Given the description of an element on the screen output the (x, y) to click on. 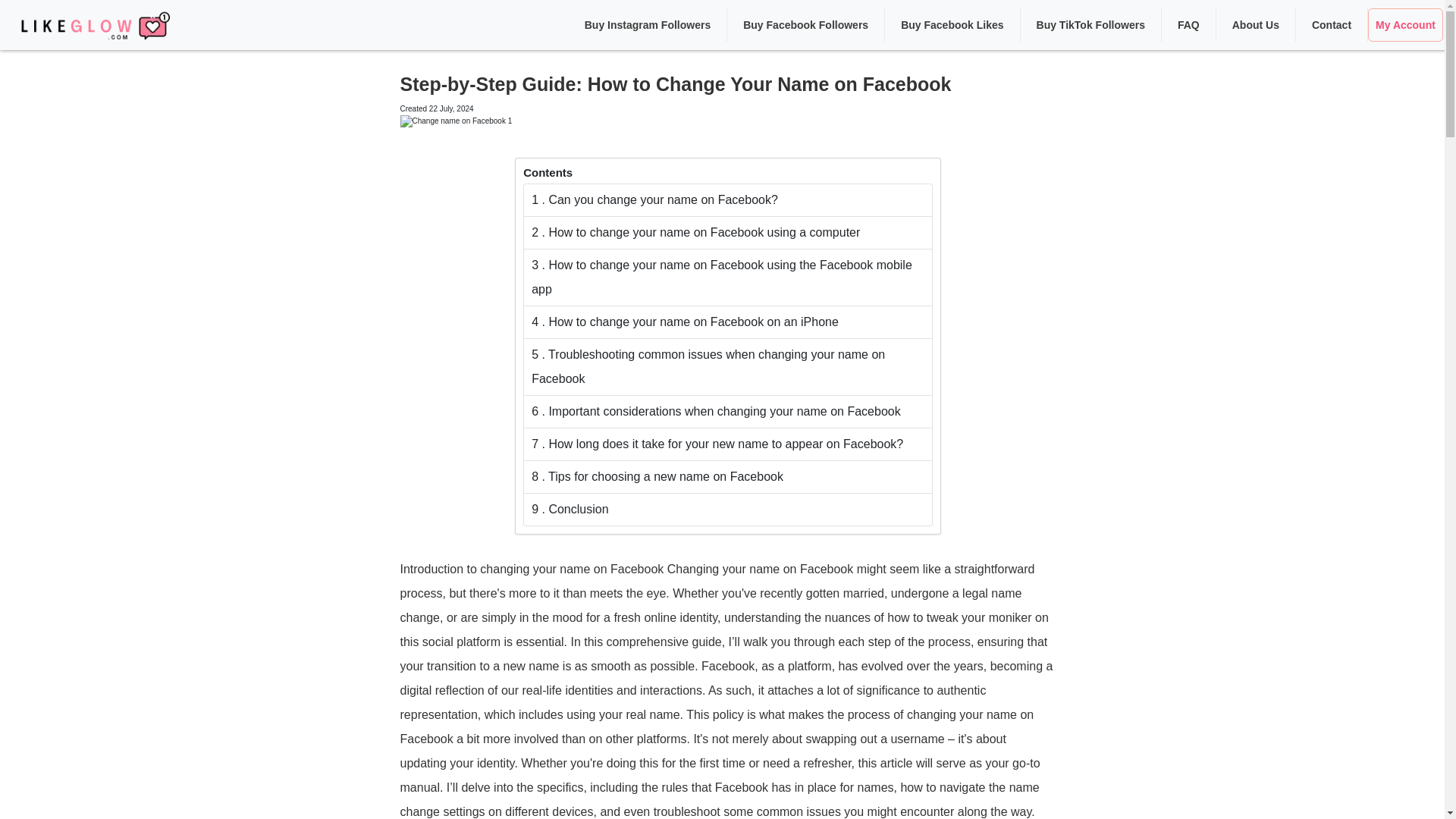
9 . Conclusion (727, 509)
Buy TikTok Followers (1090, 24)
Buy Instagram Followers (647, 24)
FAQ (1188, 24)
Buy Facebook Likes (951, 24)
My Account (1405, 24)
1 . Can you change your name on Facebook? (727, 200)
2 . How to change your name on Facebook using a computer (727, 233)
4 . How to change your name on Facebook on an iPhone (727, 322)
About Us (1255, 24)
8 . Tips for choosing a new name on Facebook (727, 477)
Contact (1331, 24)
